Given the description of an element on the screen output the (x, y) to click on. 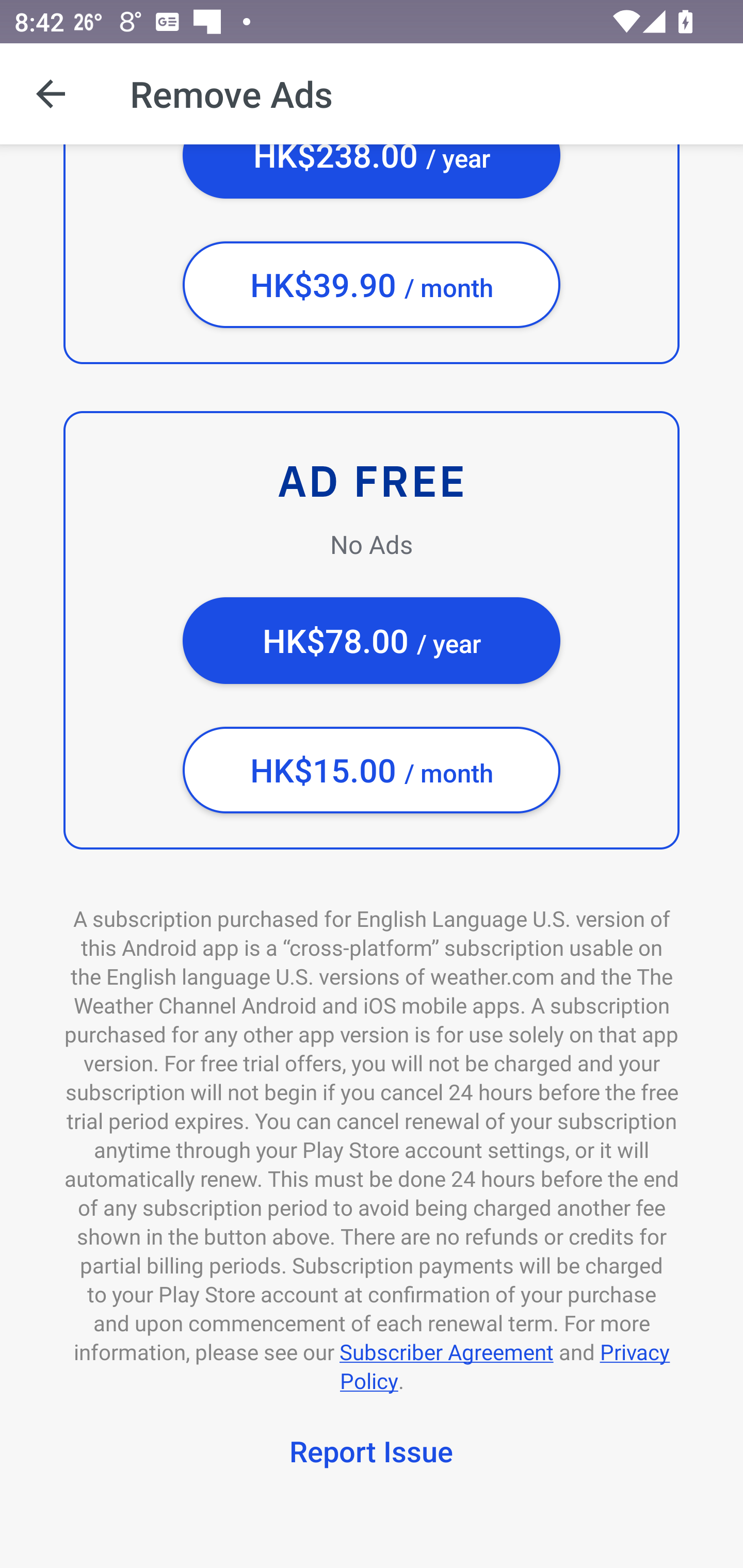
Navigate up (50, 93)
HK$238.00 / year (371, 171)
HK$39.90 / month (371, 284)
HK$78.00 / year (371, 640)
HK$15.00 / month (371, 769)
Report Issue (371, 1454)
